Given the description of an element on the screen output the (x, y) to click on. 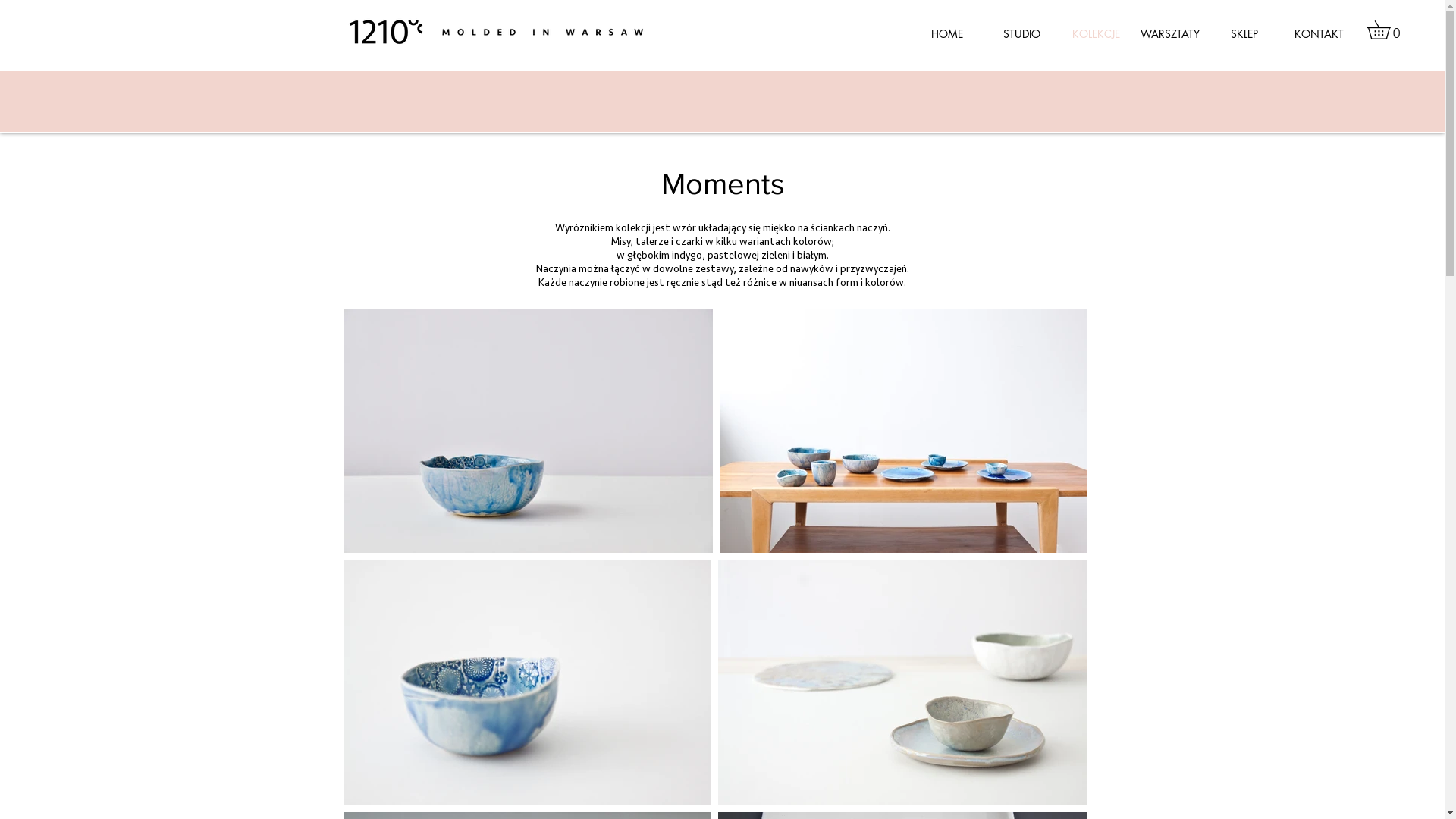
KONTAKT Element type: text (1318, 34)
STUDIO Element type: text (1021, 34)
KOLEKCJE Element type: text (1095, 34)
HOME Element type: text (947, 34)
0 Element type: text (1387, 29)
SKLEP Element type: text (1244, 34)
WARSZTATY Element type: text (1169, 34)
